Given the description of an element on the screen output the (x, y) to click on. 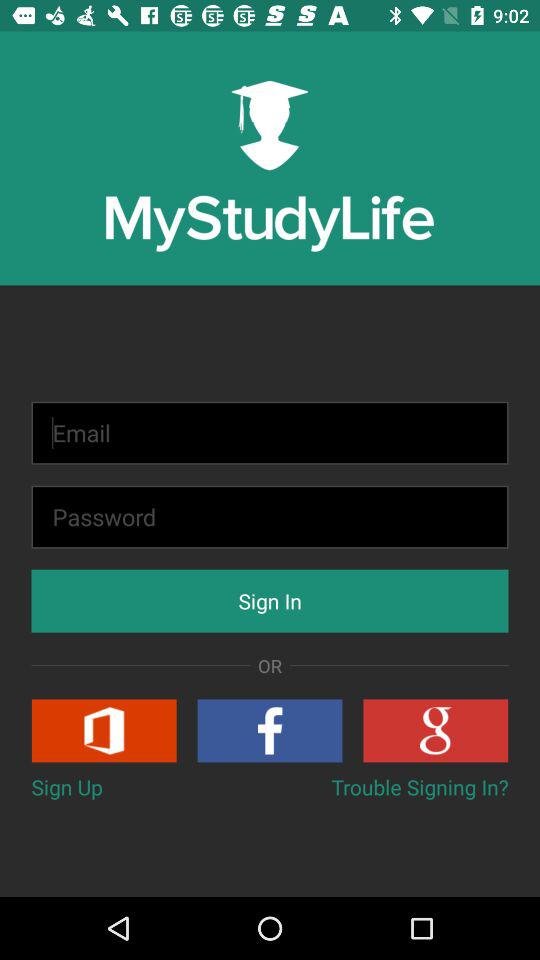
turn on the button above trouble signing in? item (435, 730)
